Given the description of an element on the screen output the (x, y) to click on. 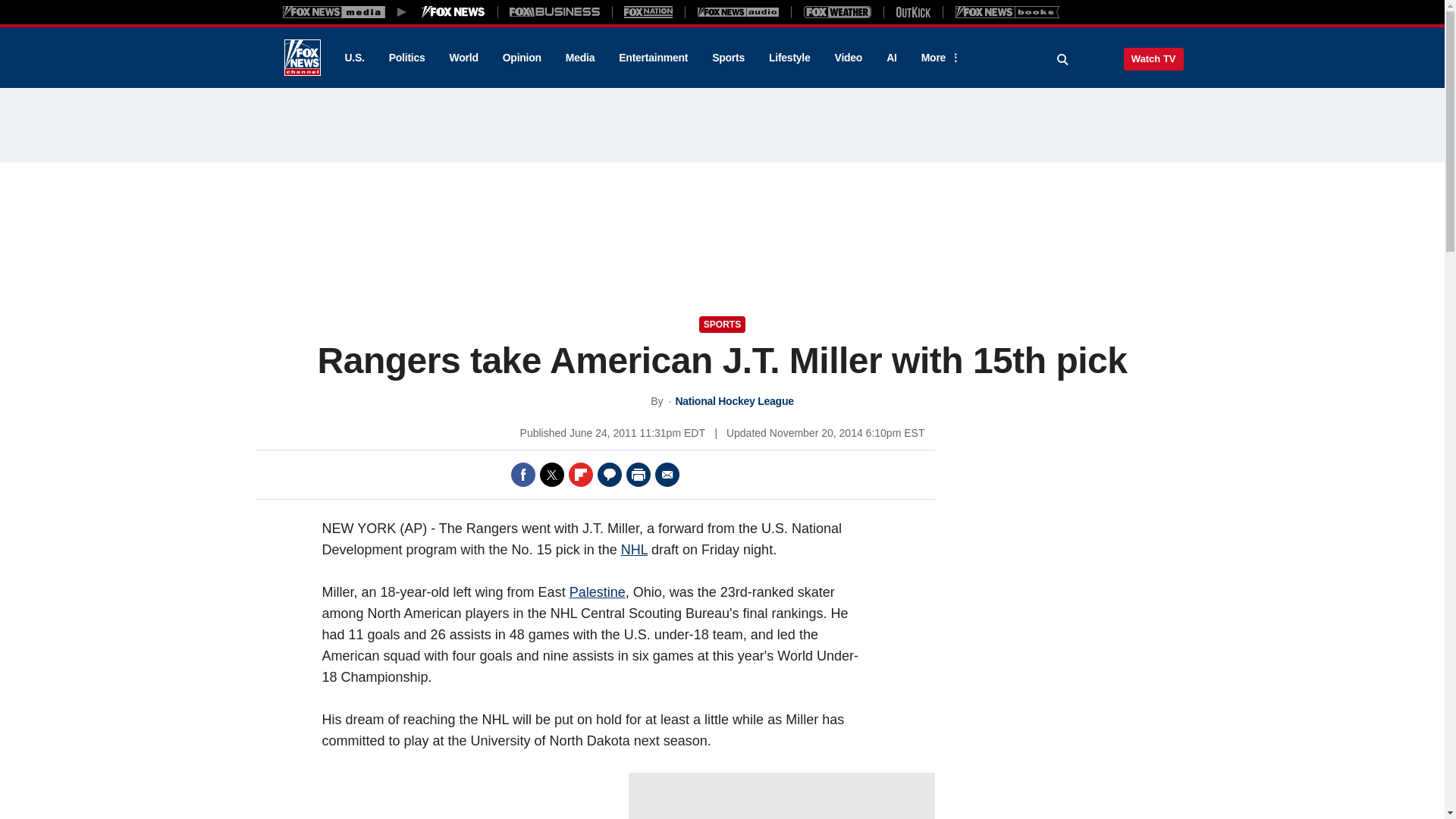
Fox News Media (453, 11)
U.S. (353, 57)
Media (580, 57)
Fox News (301, 57)
More (938, 57)
Books (1007, 11)
Outkick (912, 11)
Fox News Audio (737, 11)
Politics (407, 57)
Entertainment (653, 57)
Watch TV (1153, 58)
Fox Business (554, 11)
Sports (728, 57)
Fox Nation (648, 11)
Fox Weather (836, 11)
